Given the description of an element on the screen output the (x, y) to click on. 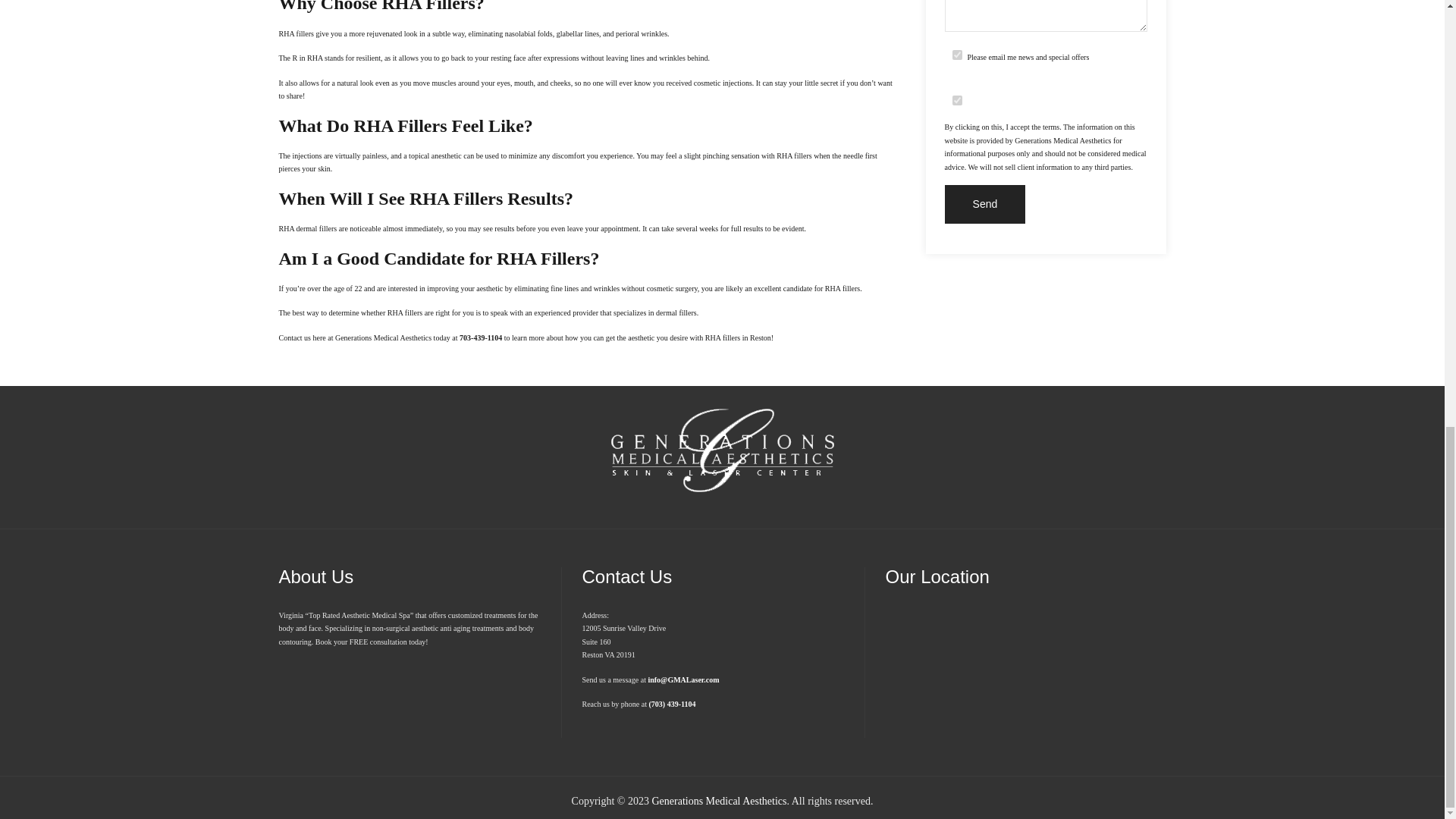
Send (985, 204)
Please email me news and special offers (957, 53)
1 (957, 99)
